Given the description of an element on the screen output the (x, y) to click on. 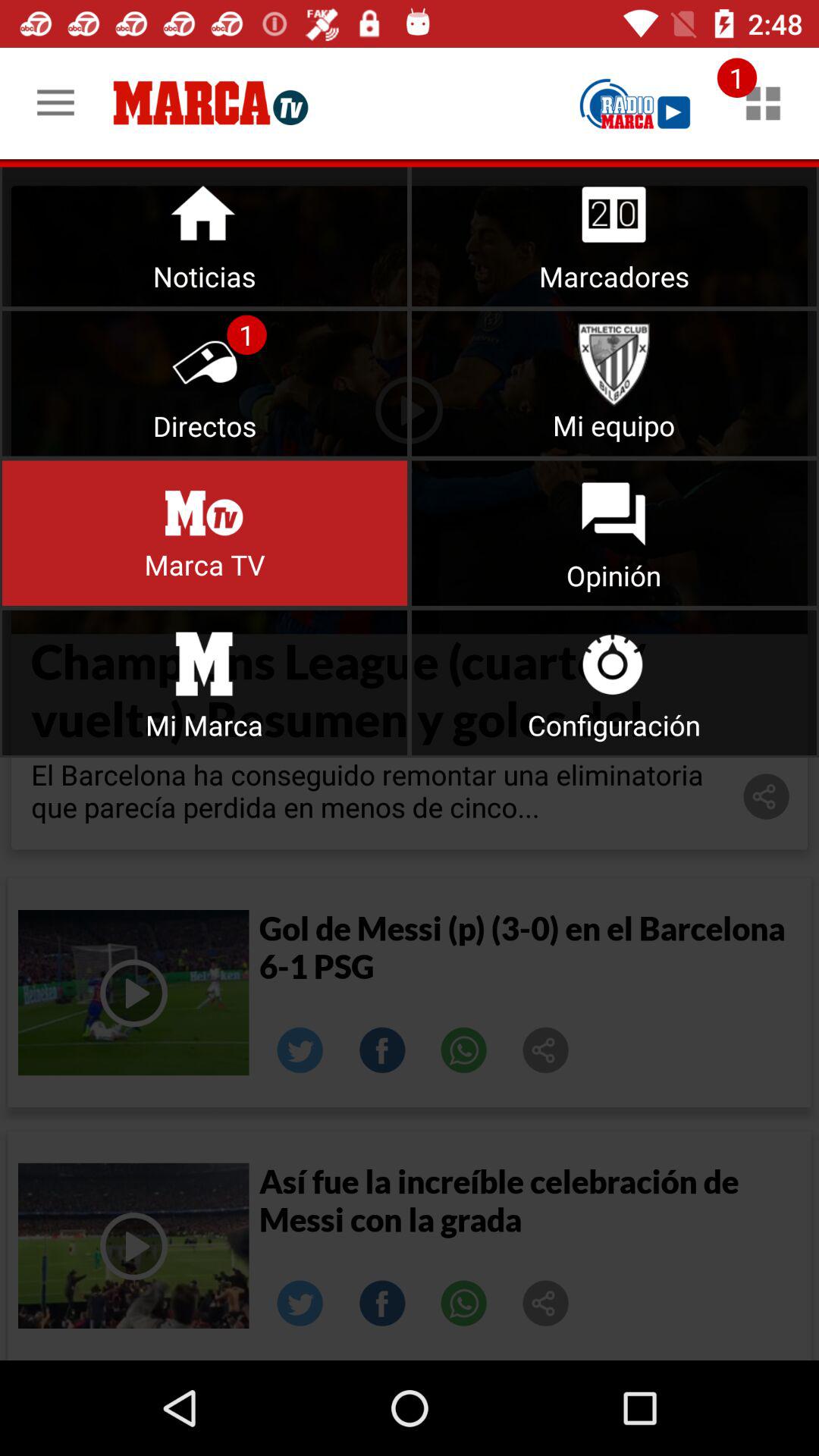
notifications (763, 103)
